Given the description of an element on the screen output the (x, y) to click on. 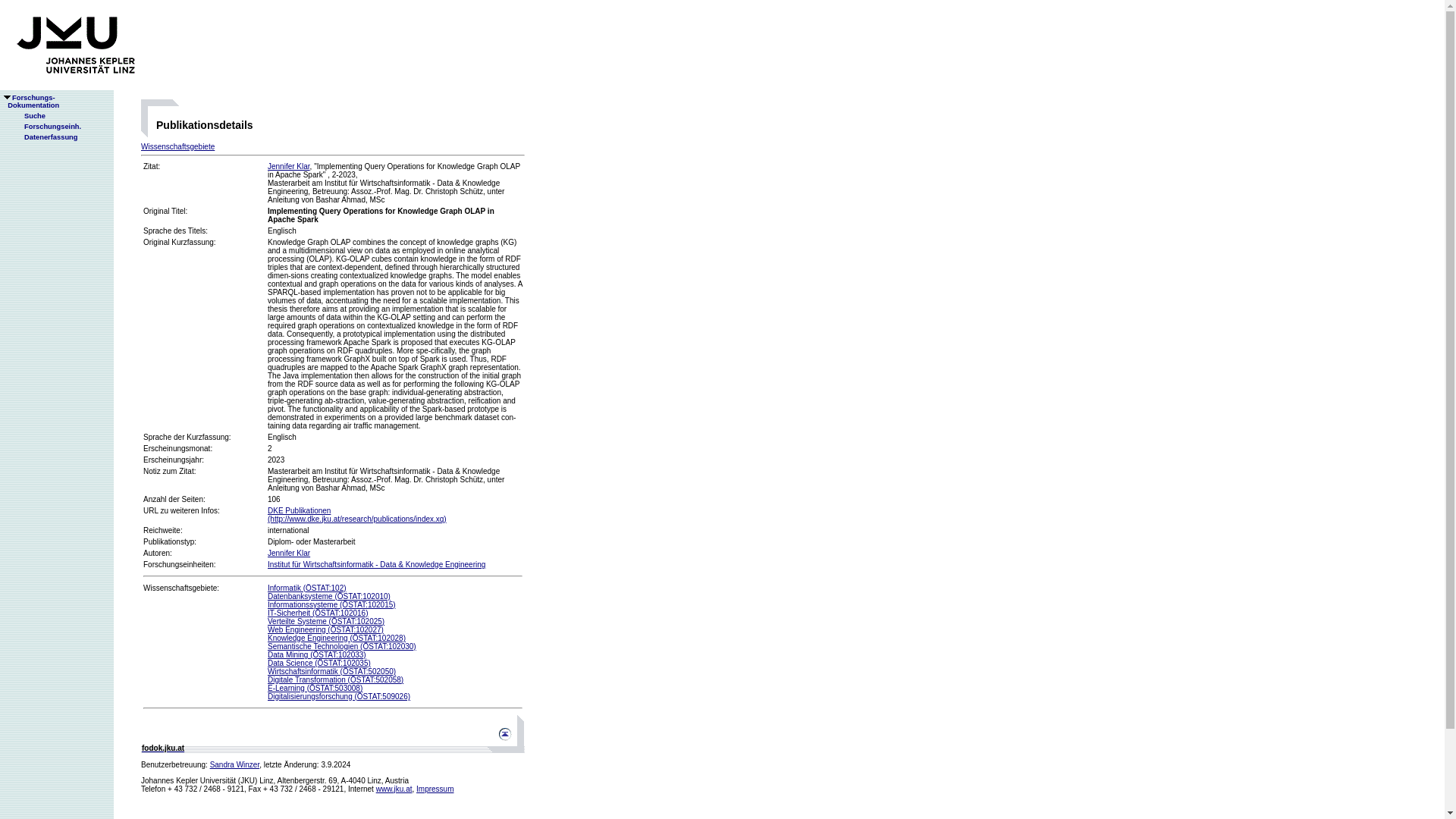
Jennifer Klar (288, 552)
fodok.jku.at (162, 747)
Sandra Winzer (234, 764)
Suche (28, 115)
www.jku.at (393, 788)
Datenerfassung (44, 136)
Forschungseinh. (46, 126)
Jennifer Klar (288, 166)
Wissenschaftsgebiete: (29, 101)
